Given the description of an element on the screen output the (x, y) to click on. 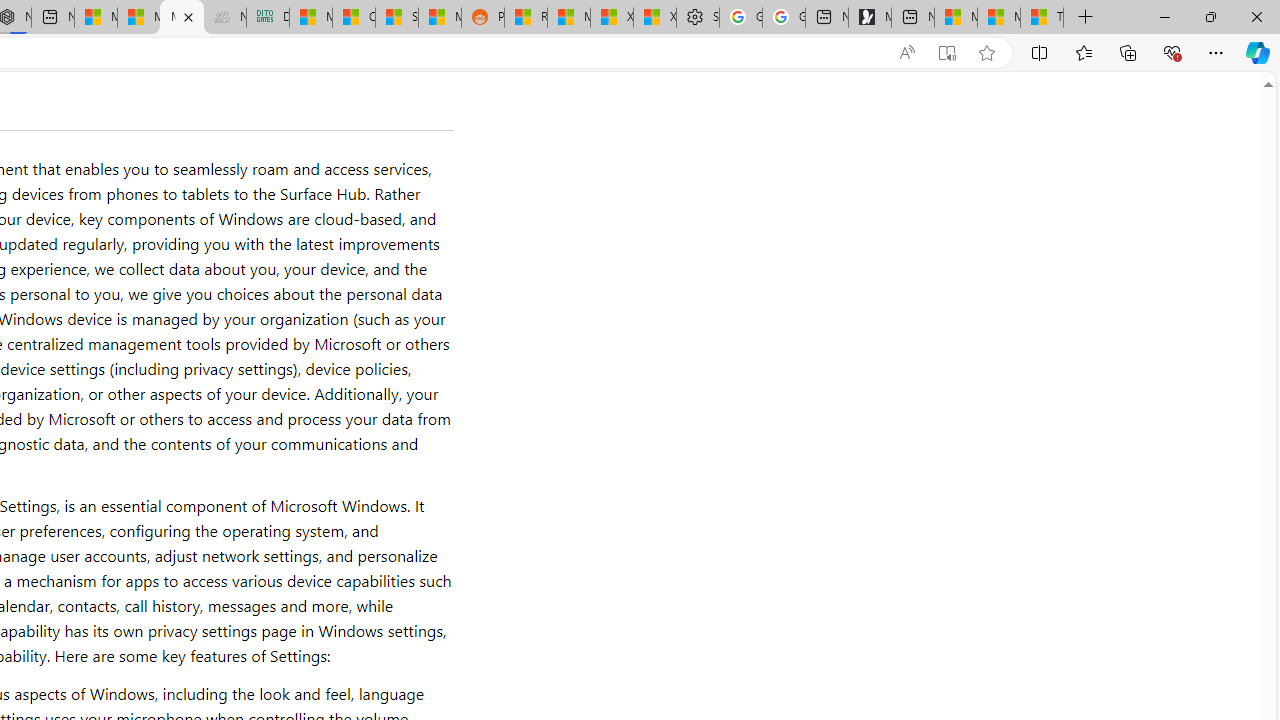
MSN (439, 17)
